Given the description of an element on the screen output the (x, y) to click on. 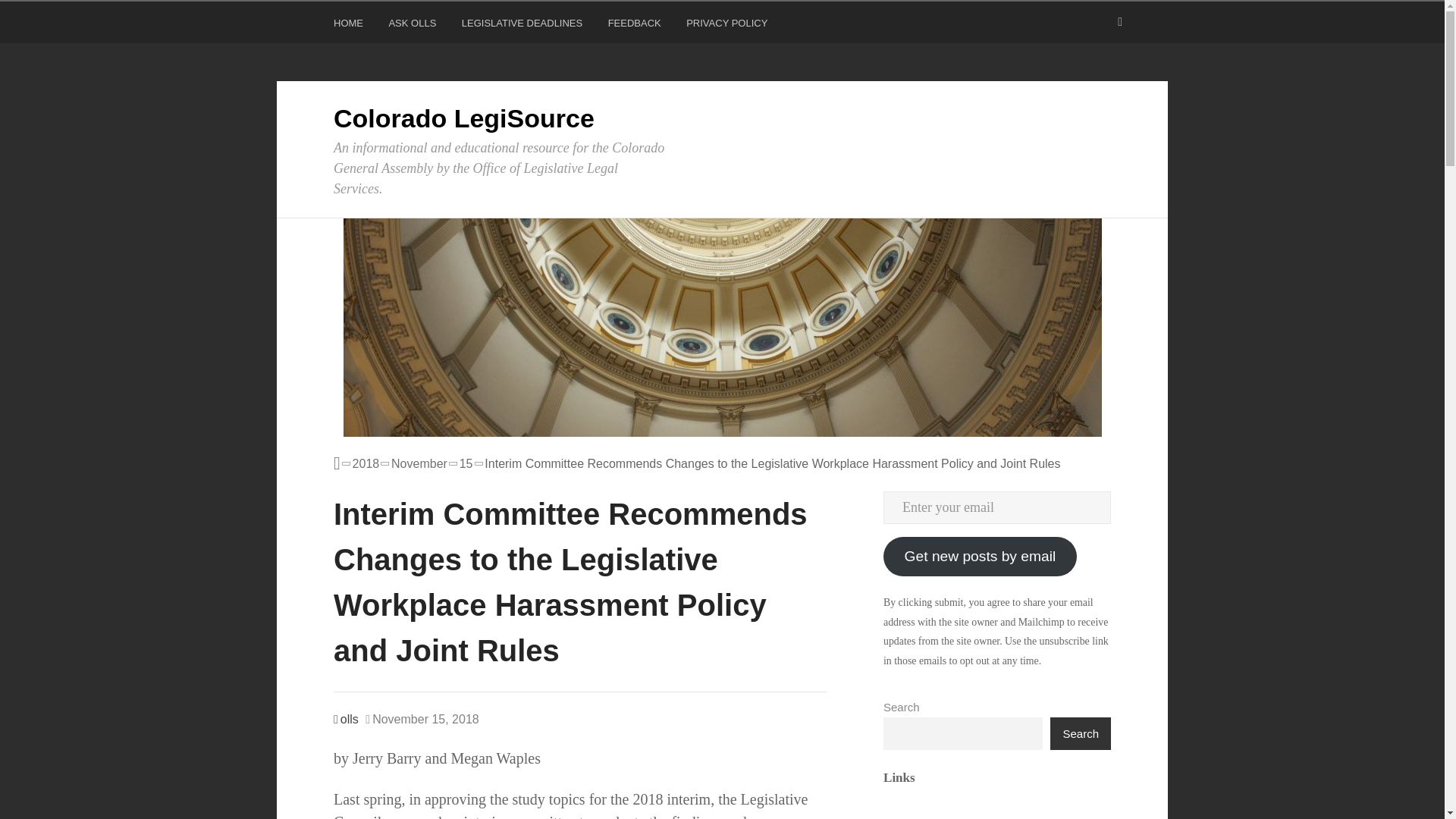
Get new posts by email (980, 556)
Posts by olls (345, 718)
Thursday, November 15, 2018, 2:48 pm (422, 719)
2018 (398, 464)
Search (30, 15)
HOME (349, 26)
PRIVACY POLICY (728, 26)
Colorado LegiSource (463, 118)
FEEDBACK (636, 26)
olls (345, 718)
